Given the description of an element on the screen output the (x, y) to click on. 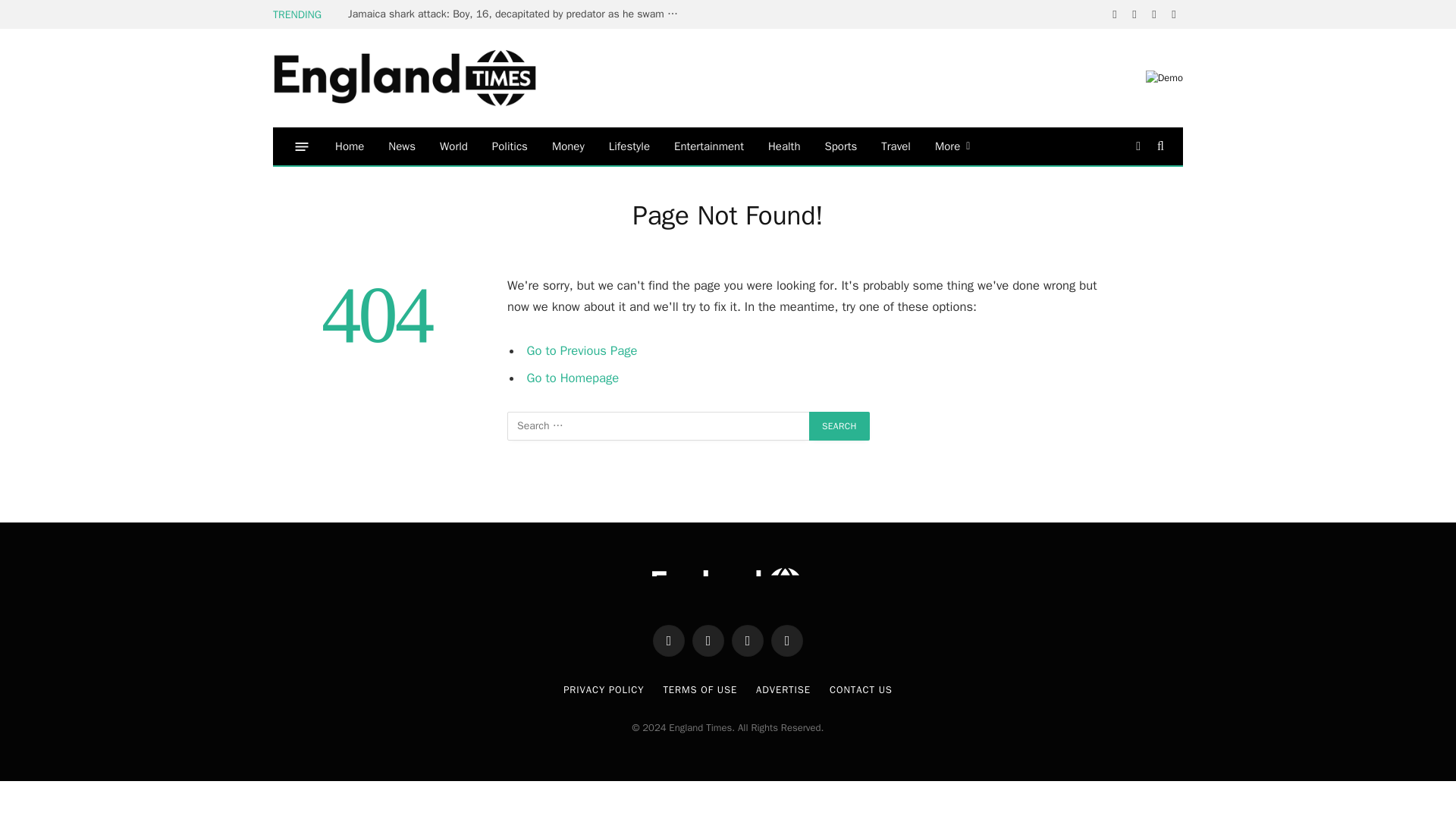
Switch to Dark Design - easier on eyes. (1138, 146)
Search (839, 425)
England Times (428, 78)
Search (839, 425)
